Given the description of an element on the screen output the (x, y) to click on. 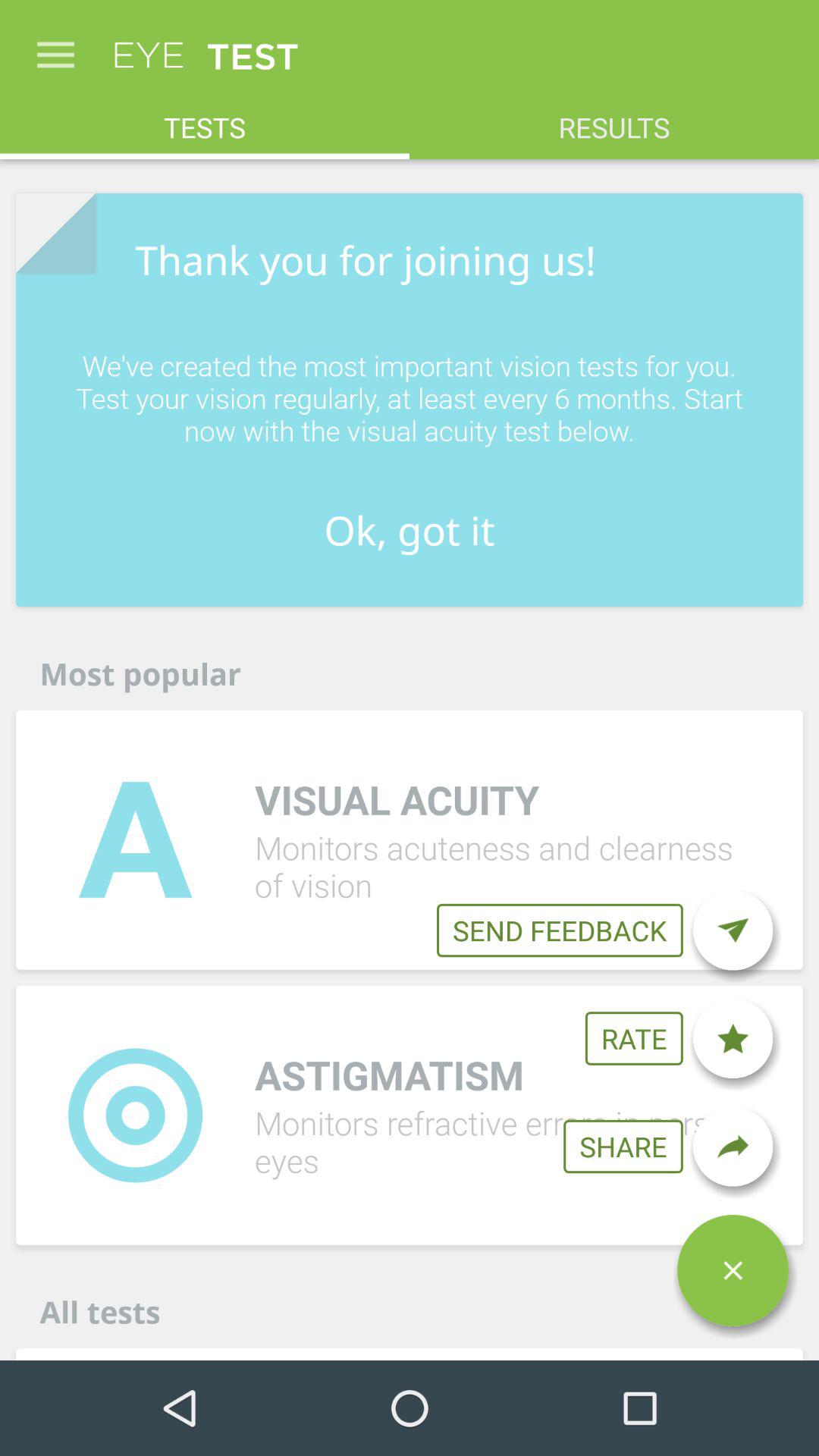
close the options menu (733, 1270)
